Given the description of an element on the screen output the (x, y) to click on. 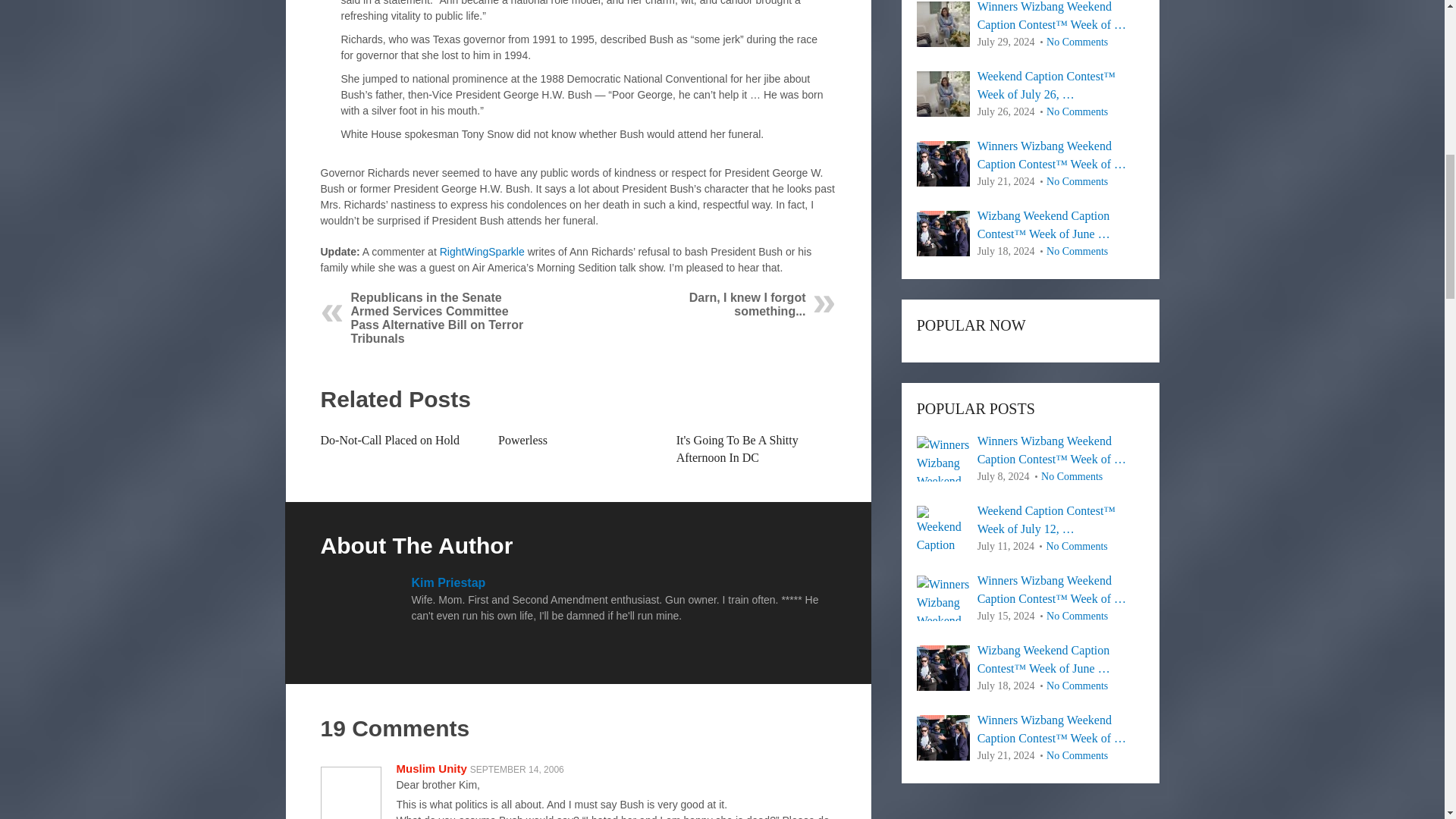
Do-Not-Call Placed on Hold (390, 440)
Do-Not-Call Placed on Hold (390, 440)
Kim Priestap (447, 582)
It's Going To Be A Shitty Afternoon In DC (737, 448)
Muslim Unity (430, 768)
RightWingSparkle (481, 251)
Darn, I knew I forgot something... (747, 304)
Powerless (522, 440)
Powerless (522, 440)
